Given the description of an element on the screen output the (x, y) to click on. 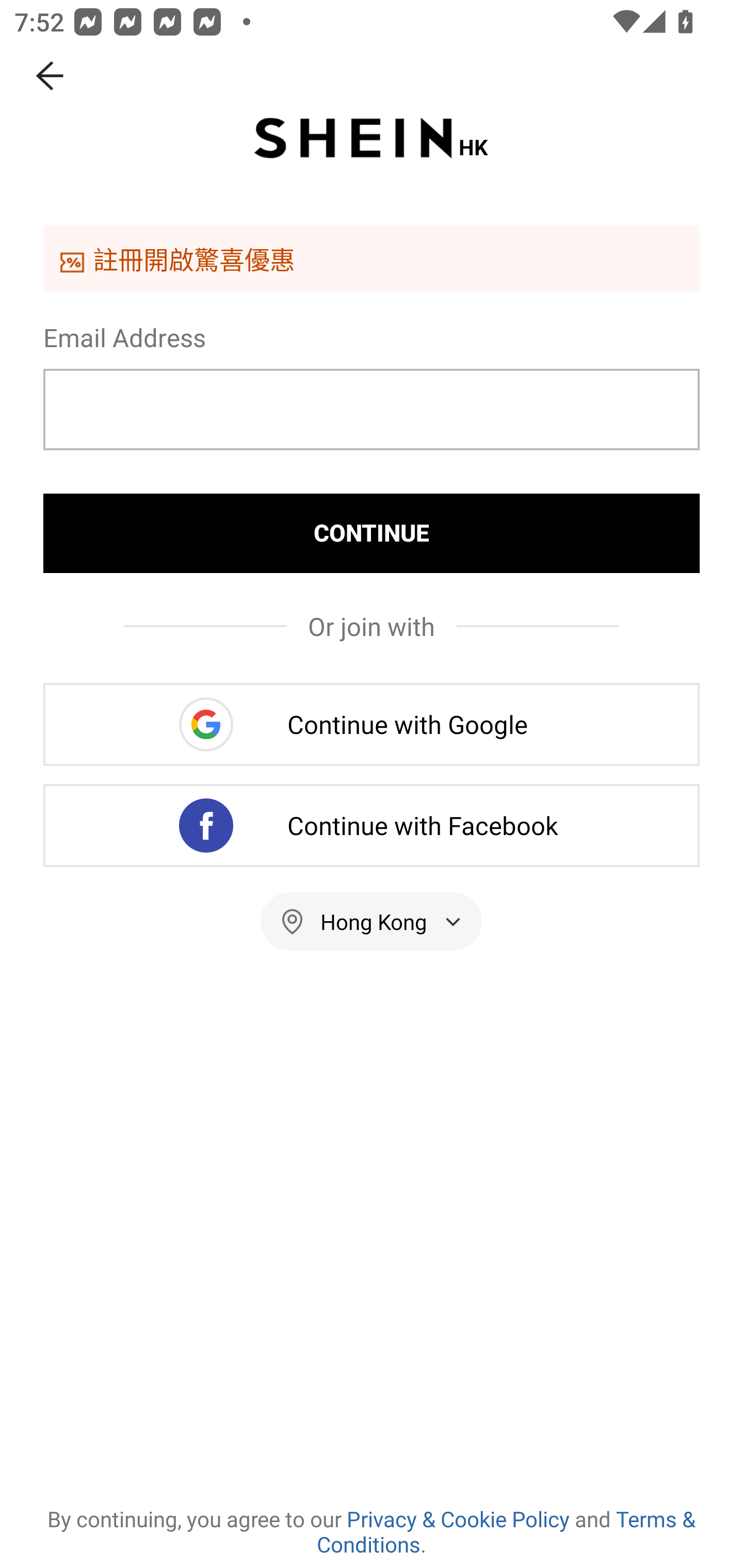
CLOSE (50, 75)
CONTINUE (371, 532)
Continue with Google (371, 724)
Continue with Facebook (371, 825)
Hong Kong (371, 921)
